Given the description of an element on the screen output the (x, y) to click on. 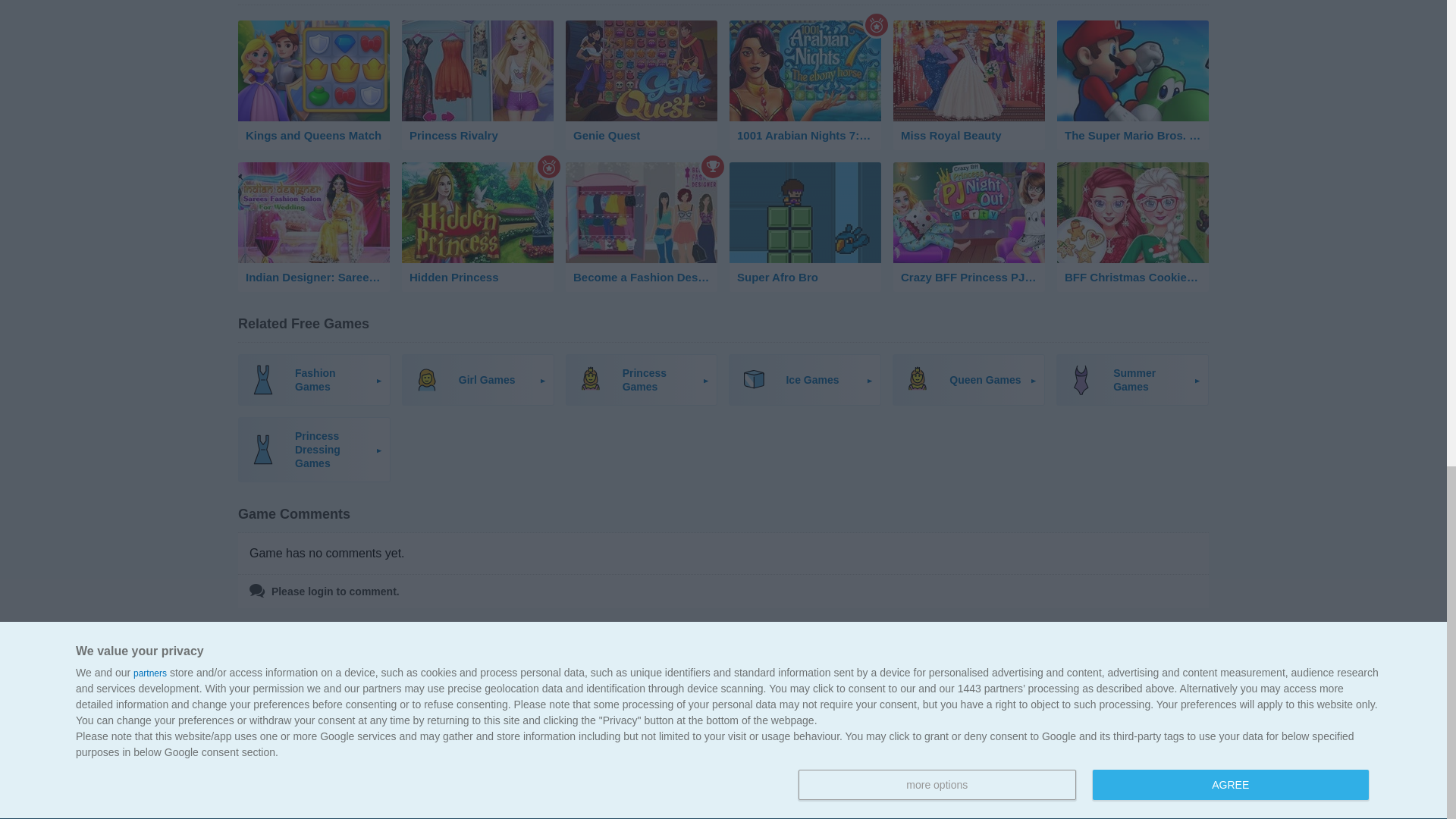
Kings and Queens Match (314, 84)
Facebook (1125, 730)
Queen Games (968, 379)
1001 Arabian Nights 7: The Ebony Horse (804, 84)
Summer Games (1132, 379)
TikTok (1180, 730)
The Super Mario Bros. Movie (1132, 84)
Genie Quest (641, 84)
Princess Rivalry (477, 84)
Miss Royal Beauty (969, 84)
Princess Games (641, 379)
Princess Dressing Games (314, 449)
Ice Games (804, 379)
Indian Designer: Sarees Fashion Salon for Wedding (314, 226)
Fashion Games (314, 379)
